Given the description of an element on the screen output the (x, y) to click on. 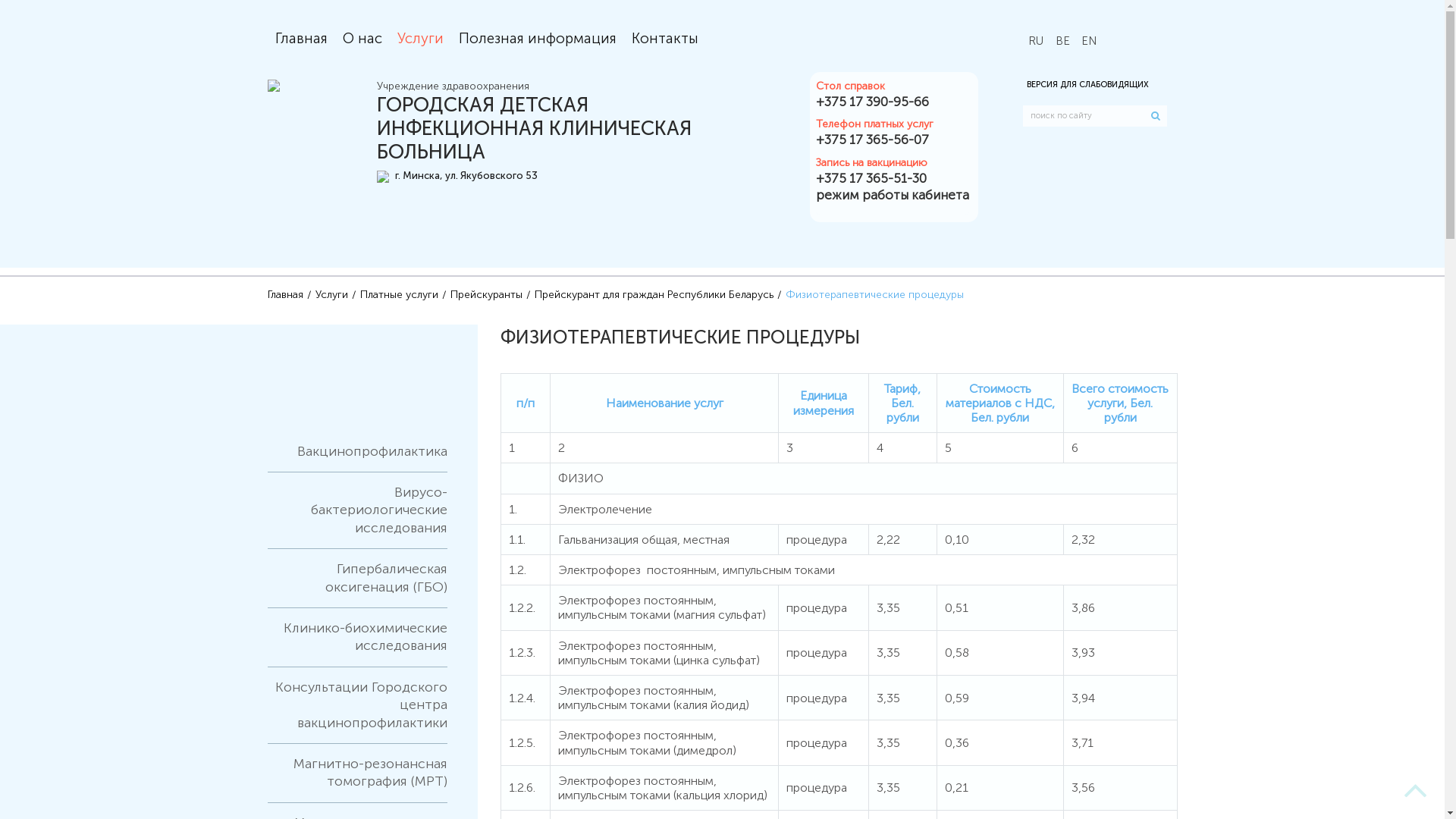
RU Element type: text (1035, 41)
+375 17 365-51-30 Element type: text (892, 177)
+375 17 365-56-07 Element type: text (892, 139)
EN Element type: text (1088, 41)
BE Element type: text (1062, 41)
+375 17 390-95-66 Element type: text (892, 101)
